Given the description of an element on the screen output the (x, y) to click on. 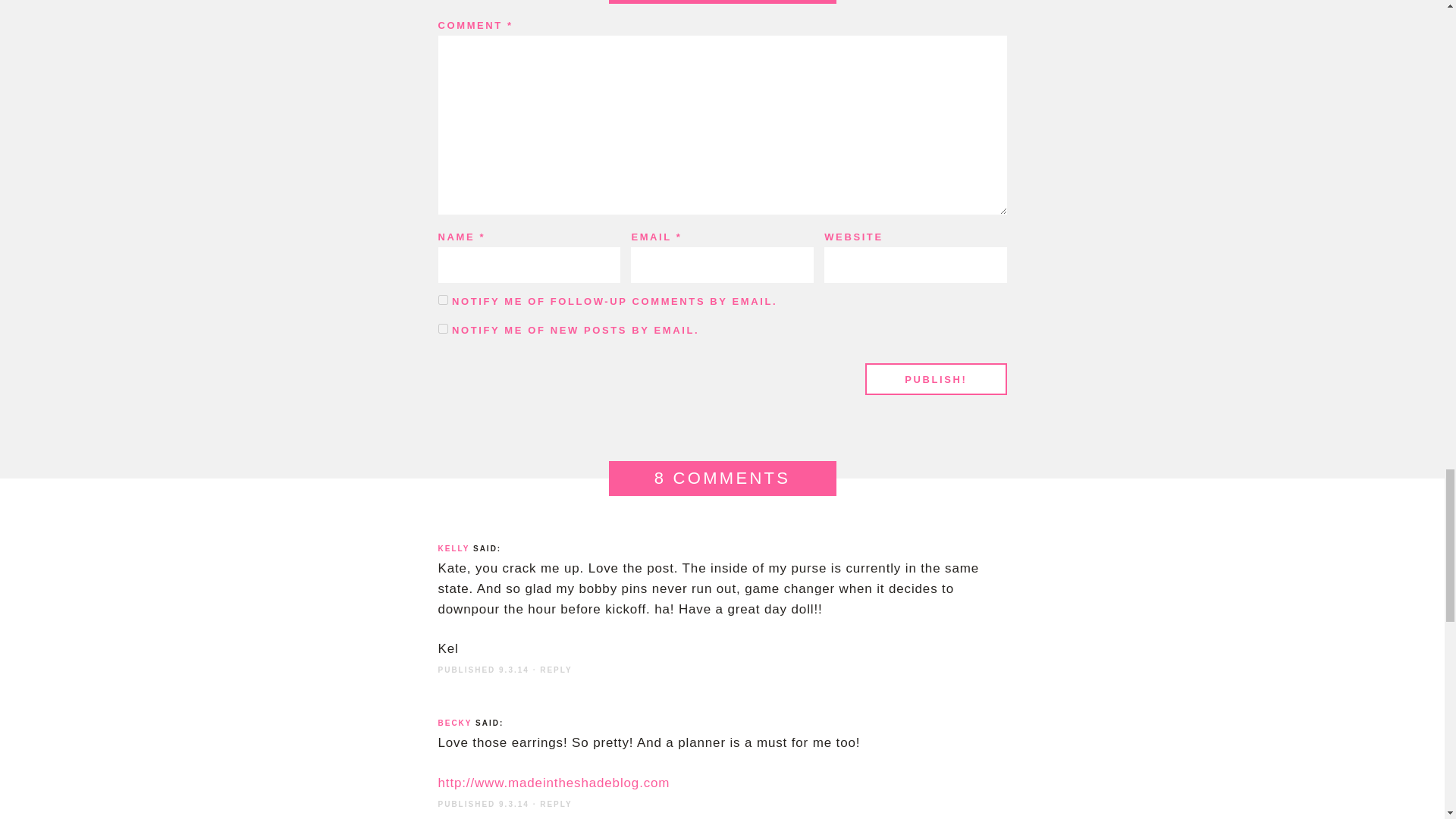
subscribe (443, 299)
Publish! (935, 378)
subscribe (443, 328)
